Given the description of an element on the screen output the (x, y) to click on. 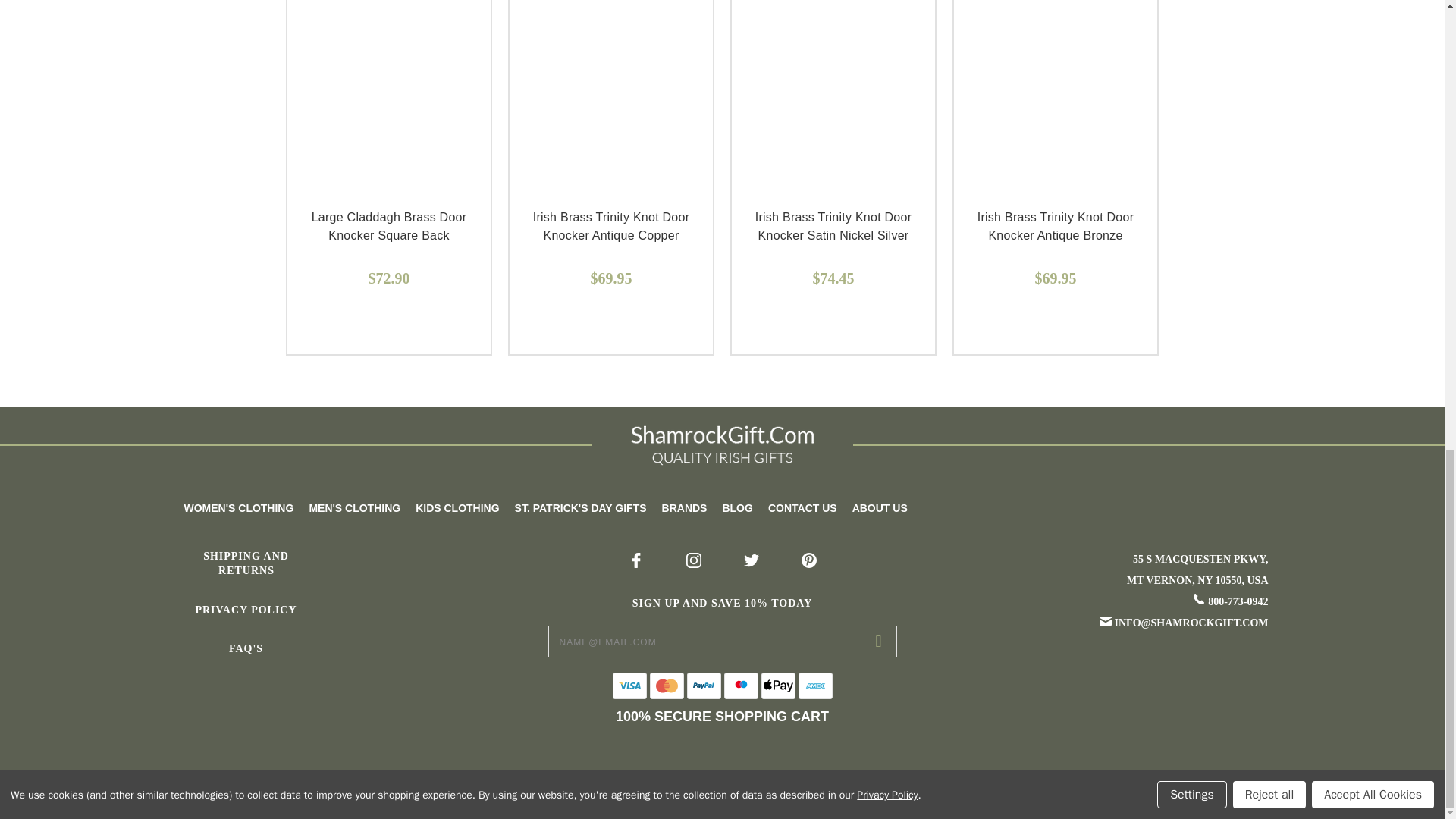
Shamrock Gift (722, 445)
